Given the description of an element on the screen output the (x, y) to click on. 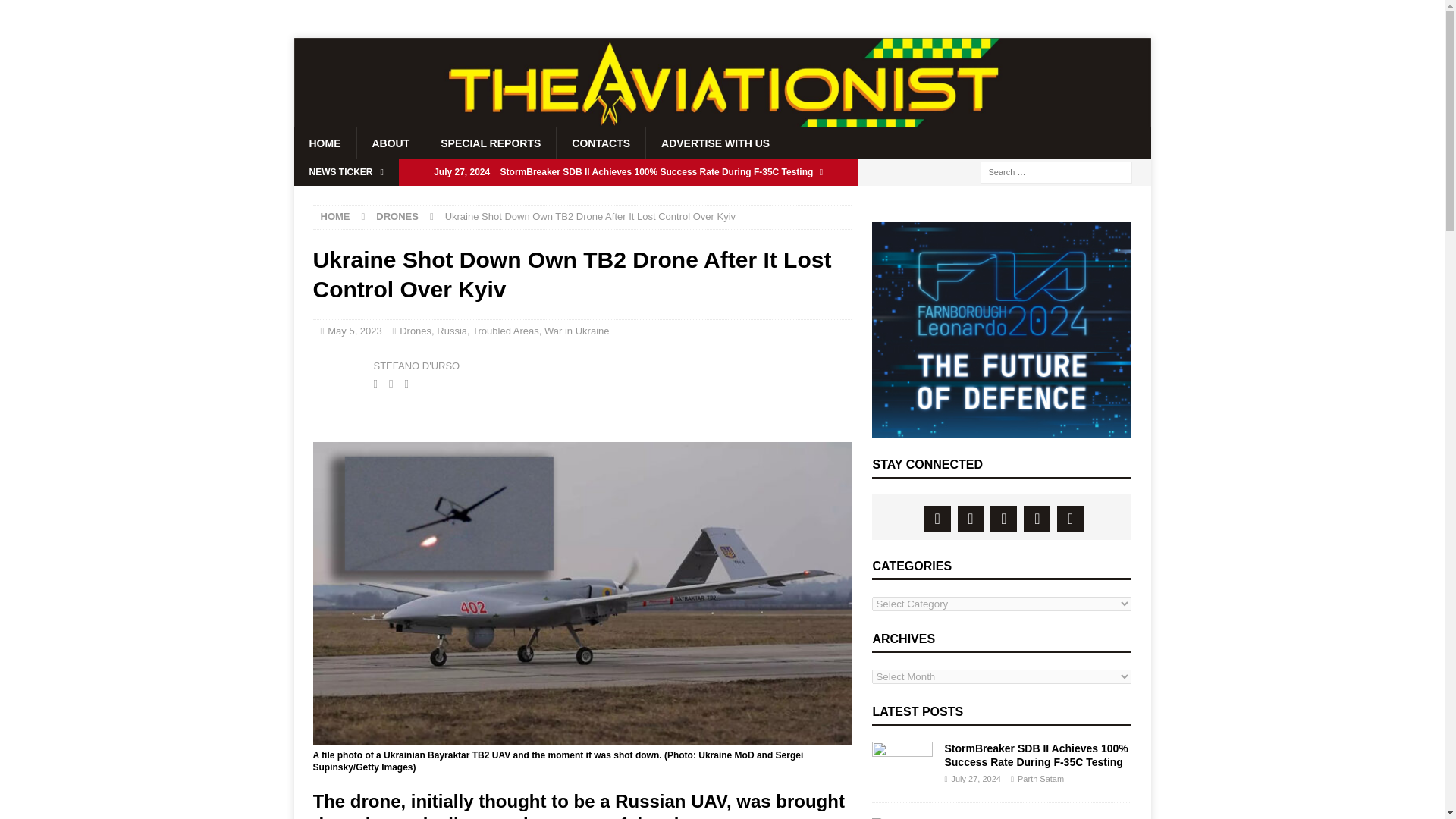
HOME (325, 142)
SPECIAL REPORTS (490, 142)
STEFANO D'URSO (416, 365)
The Aviationist (722, 121)
May 5, 2023 (354, 330)
CONTACTS (600, 142)
Russia (451, 330)
Troubled Areas (504, 330)
War in Ukraine (576, 330)
Stefano D'Urso (339, 373)
Drones (414, 330)
Search (56, 11)
ADVERTISE WITH US (714, 142)
ABOUT (390, 142)
DRONES (397, 215)
